Given the description of an element on the screen output the (x, y) to click on. 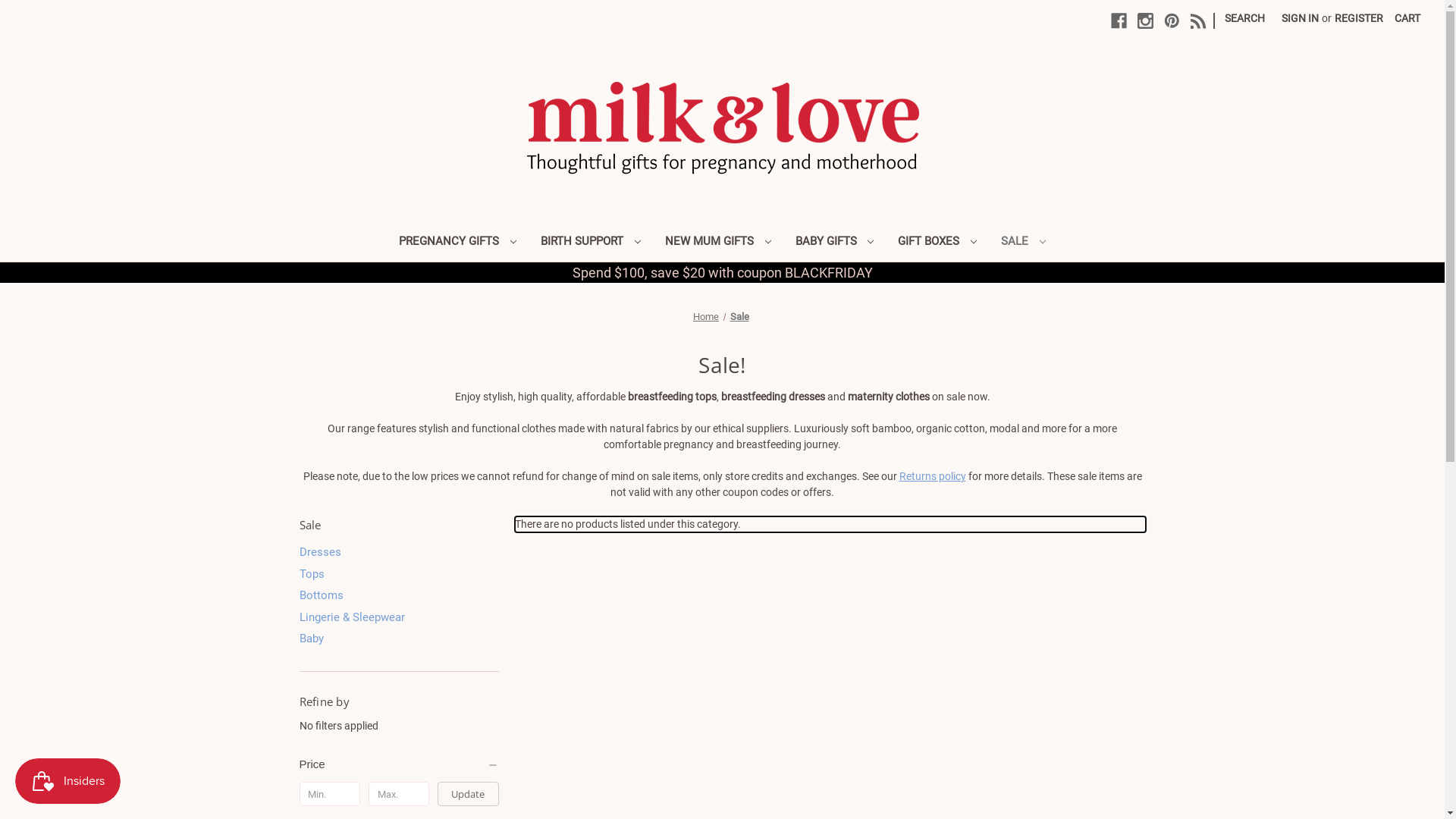
Facebook Element type: hover (1118, 20)
Rss Element type: hover (1198, 20)
Sale Element type: text (738, 316)
Price Element type: text (398, 764)
Returns policy Element type: text (932, 476)
Baby Element type: text (398, 638)
PREGNANCY GIFTS Element type: text (457, 242)
REGISTER Element type: text (1358, 18)
Home Element type: text (705, 316)
Milk and Love Element type: hover (722, 128)
Bottoms Element type: text (398, 595)
SALE Element type: text (1022, 242)
BIRTH SUPPORT Element type: text (590, 242)
Smile.io Rewards Program Launcher Element type: hover (67, 780)
GIFT BOXES Element type: text (936, 242)
SEARCH Element type: text (1244, 18)
Instagram Element type: hover (1145, 20)
NEW MUM GIFTS Element type: text (717, 242)
SIGN IN Element type: text (1300, 18)
Update Element type: text (467, 793)
Tops Element type: text (398, 574)
Lingerie & Sleepwear Element type: text (398, 617)
Dresses Element type: text (398, 552)
Pinterest Element type: hover (1171, 20)
BABY GIFTS Element type: text (833, 242)
CART Element type: text (1407, 18)
